Given the description of an element on the screen output the (x, y) to click on. 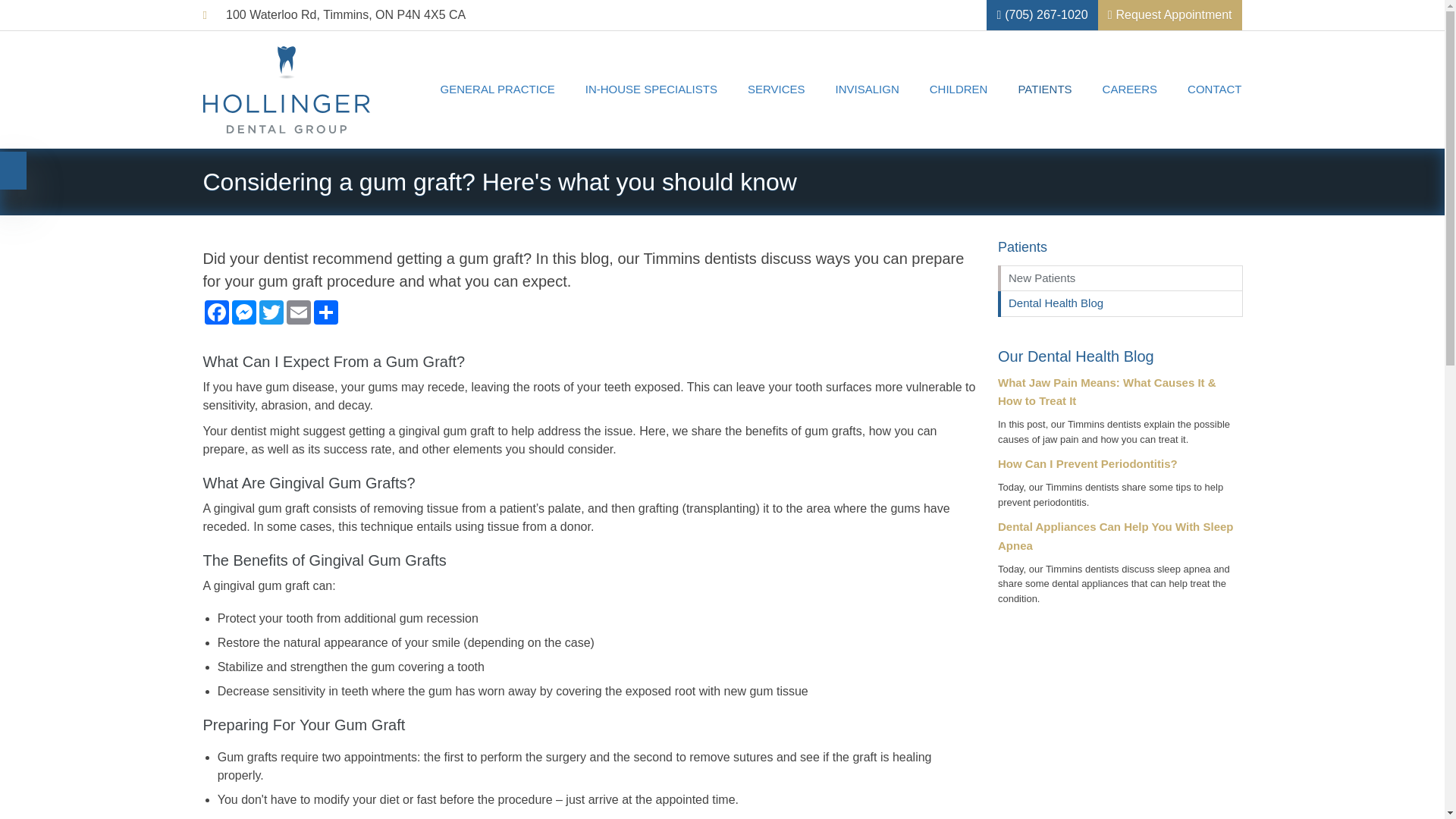
IN-HOUSE SPECIALISTS (651, 89)
GENERAL PRACTICE (497, 89)
SERVICES (776, 89)
Request Appointment (1169, 15)
